Given the description of an element on the screen output the (x, y) to click on. 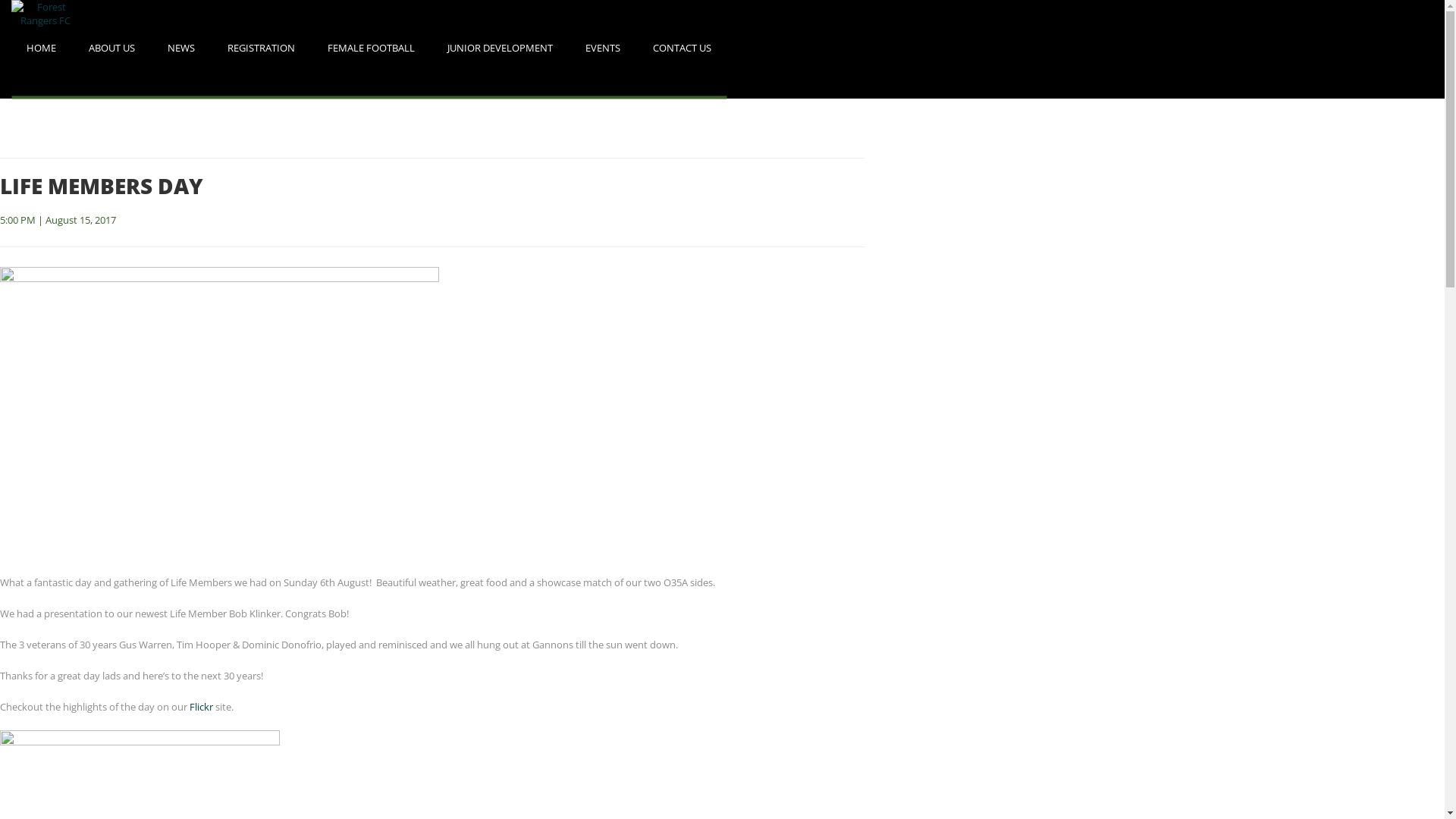
HOME Element type: text (41, 48)
FEMALE FOOTBALL Element type: text (370, 48)
JUNIOR DEVELOPMENT Element type: text (499, 48)
REGISTRATION Element type: text (261, 48)
Forest Rangers FC Element type: hover (45, 45)
CONTACT US Element type: text (681, 48)
Flickr Element type: text (201, 706)
ABOUT US Element type: text (111, 48)
EVENTS Element type: text (602, 48)
NEWS Element type: text (181, 48)
